Given the description of an element on the screen output the (x, y) to click on. 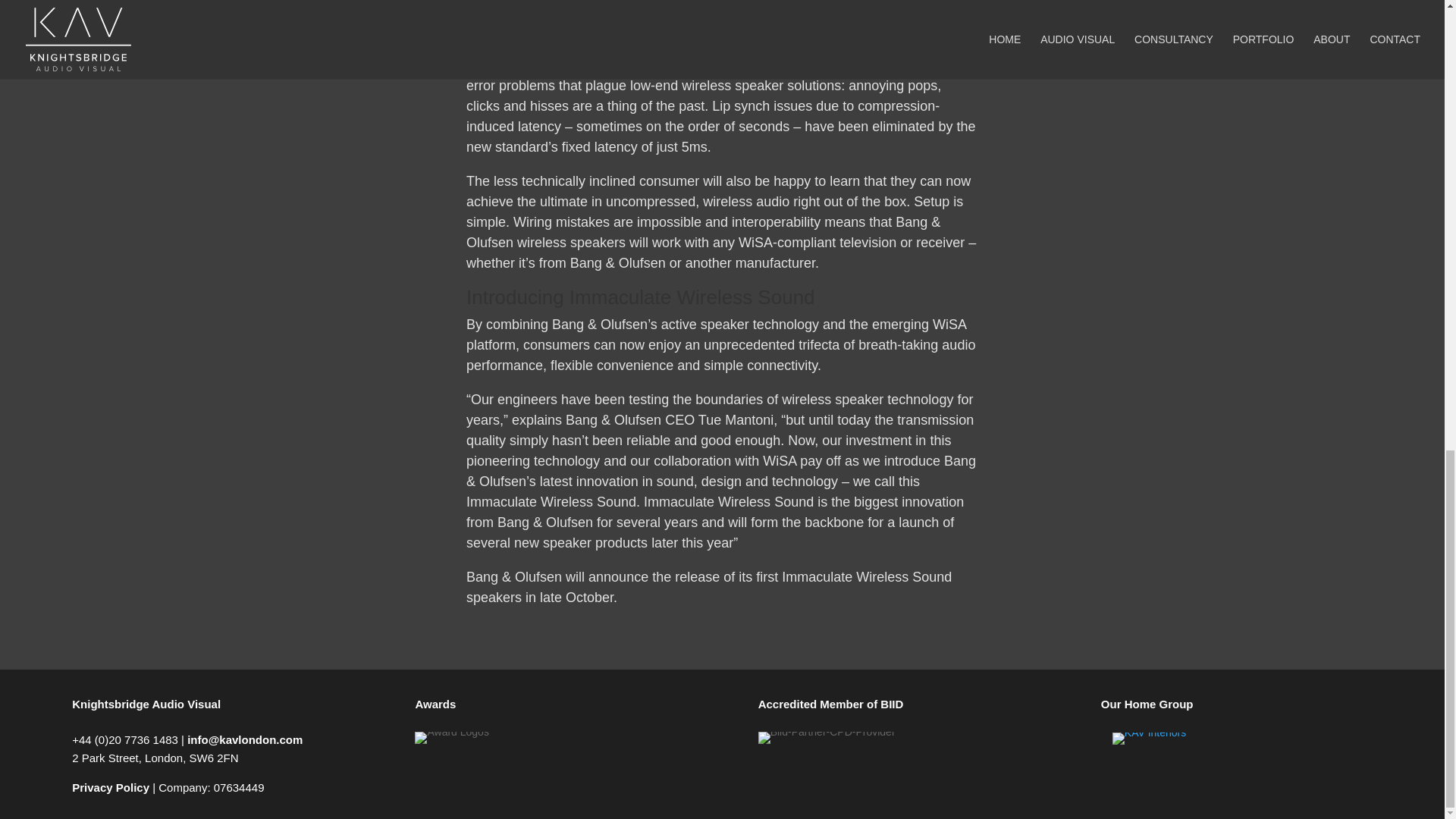
Privacy Policy (110, 787)
Biid-Partner-CPD-Provider (826, 737)
Award Logos (450, 737)
KAV Interiors (1149, 738)
